Given the description of an element on the screen output the (x, y) to click on. 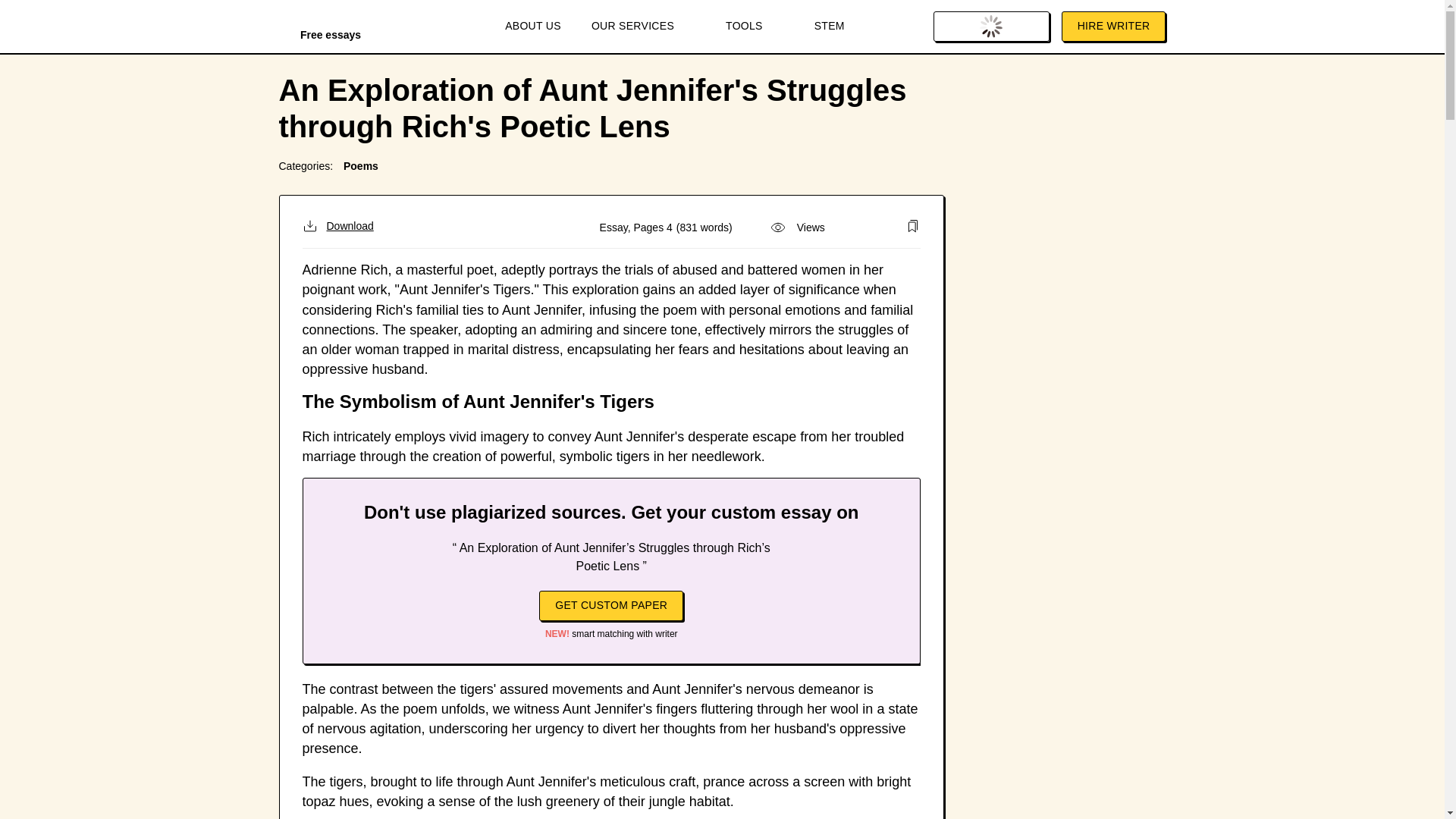
Poems (360, 165)
HIRE WRITER (1113, 26)
ABOUT US (532, 26)
Download (336, 225)
TOOLS (754, 26)
GET CUSTOM PAPER (610, 605)
OUR SERVICES (643, 26)
Free essays (330, 29)
STEM (829, 26)
